Given the description of an element on the screen output the (x, y) to click on. 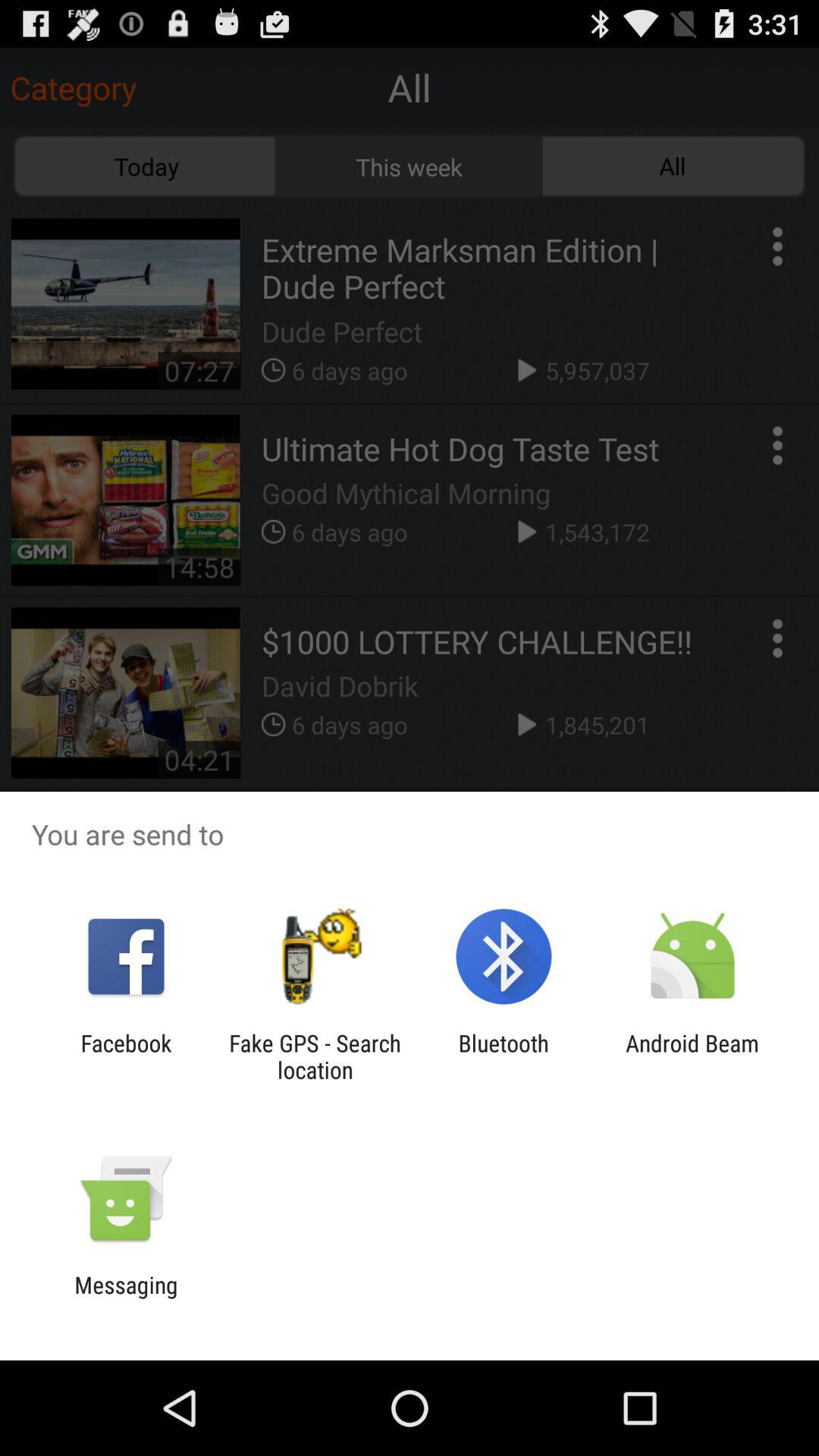
click the icon to the right of facebook item (314, 1056)
